Given the description of an element on the screen output the (x, y) to click on. 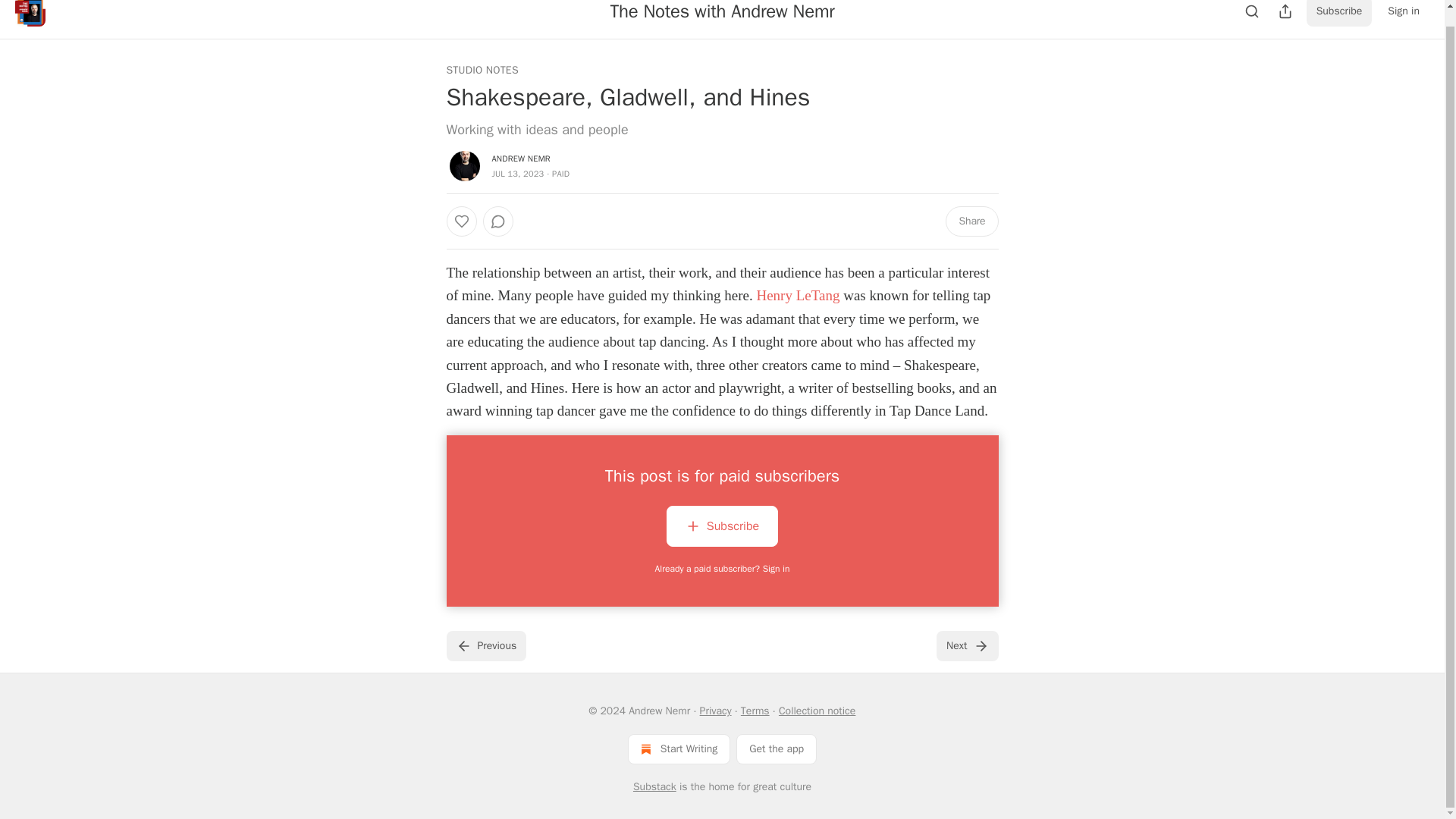
Terms (755, 710)
Sign in (1403, 13)
STUDIO NOTES (481, 70)
ANDREW NEMR (521, 158)
Already a paid subscriber? Sign in (722, 568)
Privacy (716, 710)
Collection notice (817, 710)
Start Writing (678, 748)
Substack (655, 786)
Subscribe (721, 526)
